Given the description of an element on the screen output the (x, y) to click on. 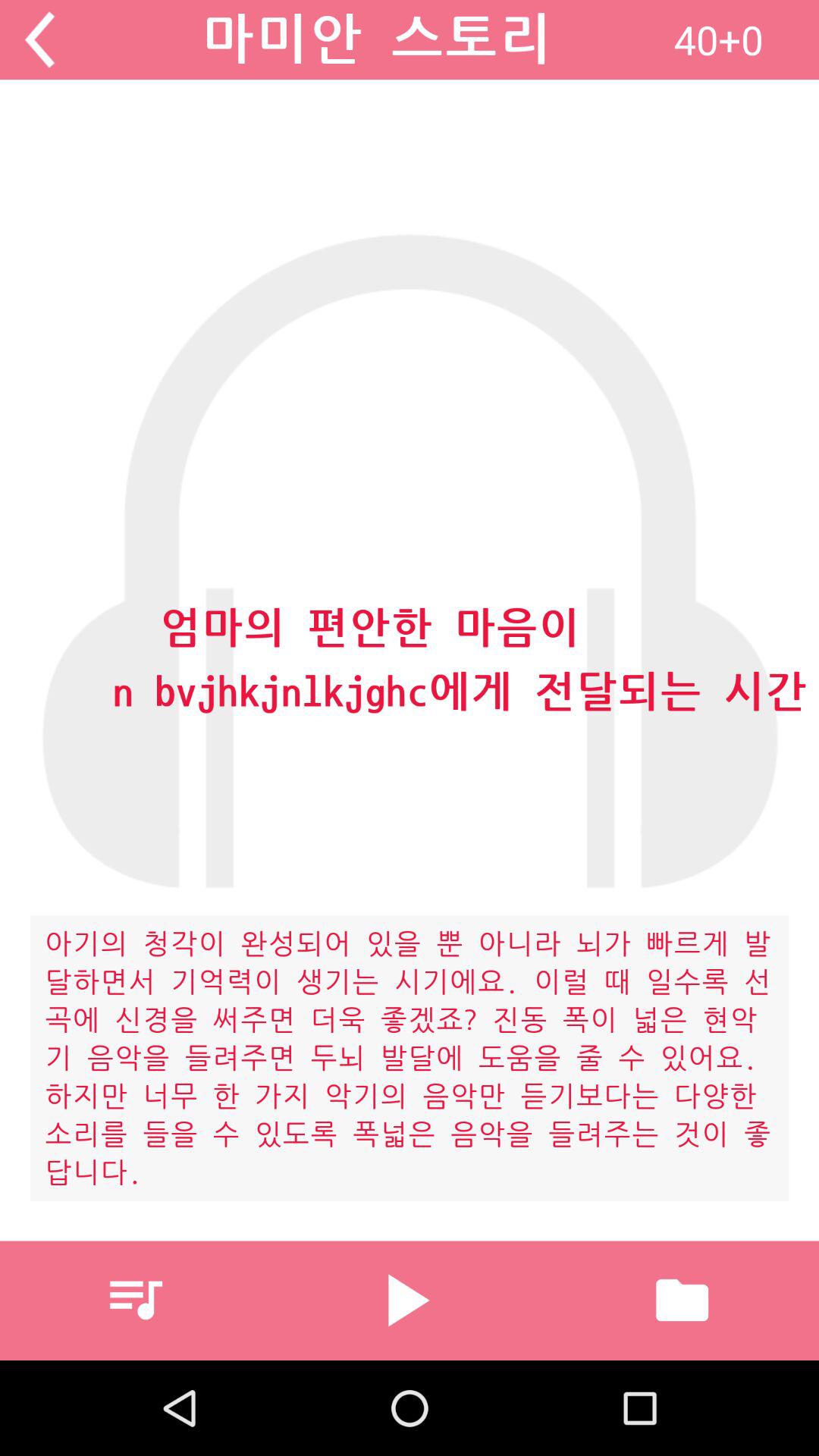
press icon at the bottom left corner (136, 1300)
